Given the description of an element on the screen output the (x, y) to click on. 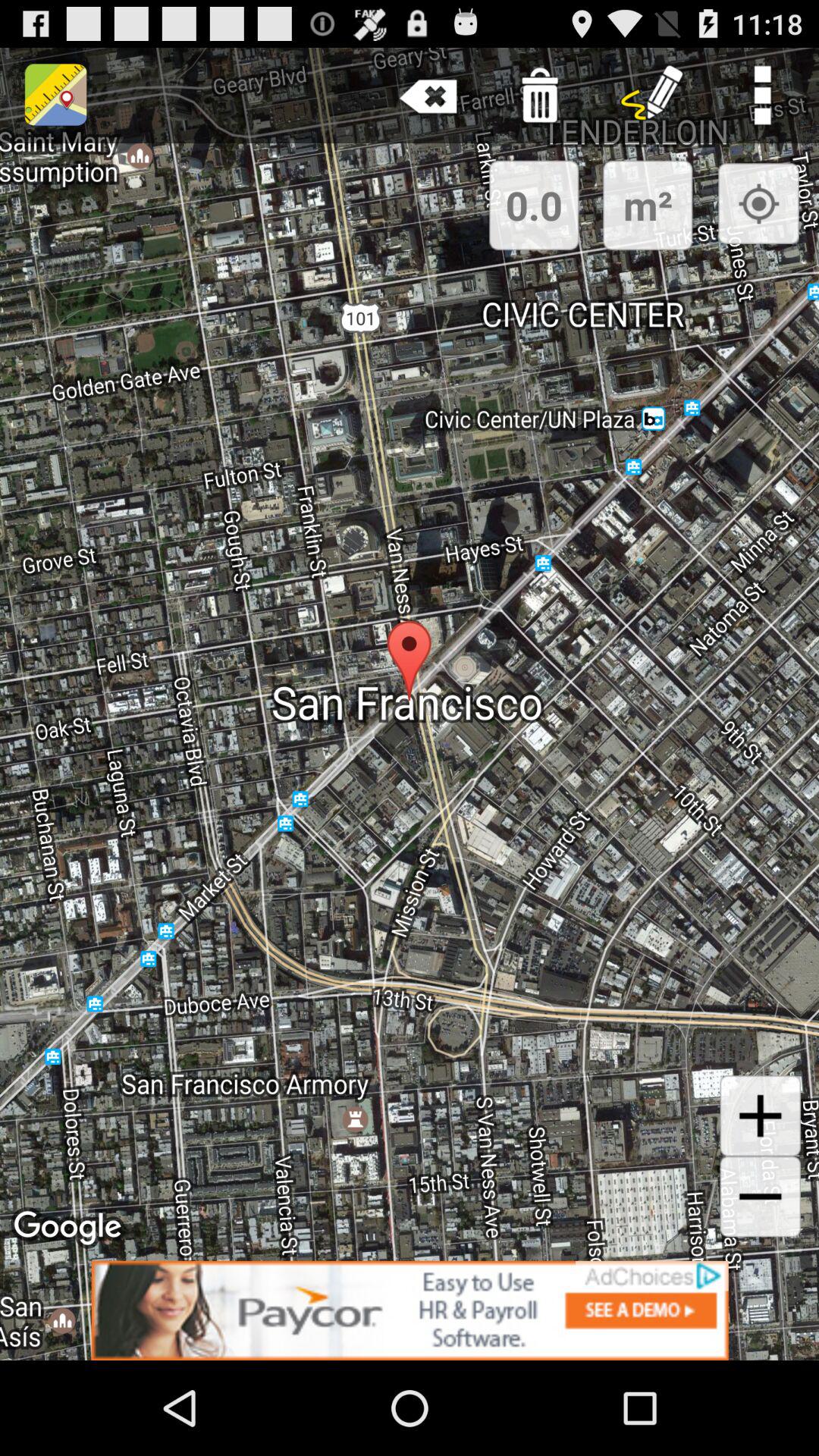
select the button shows exact my location (758, 203)
